Given the description of an element on the screen output the (x, y) to click on. 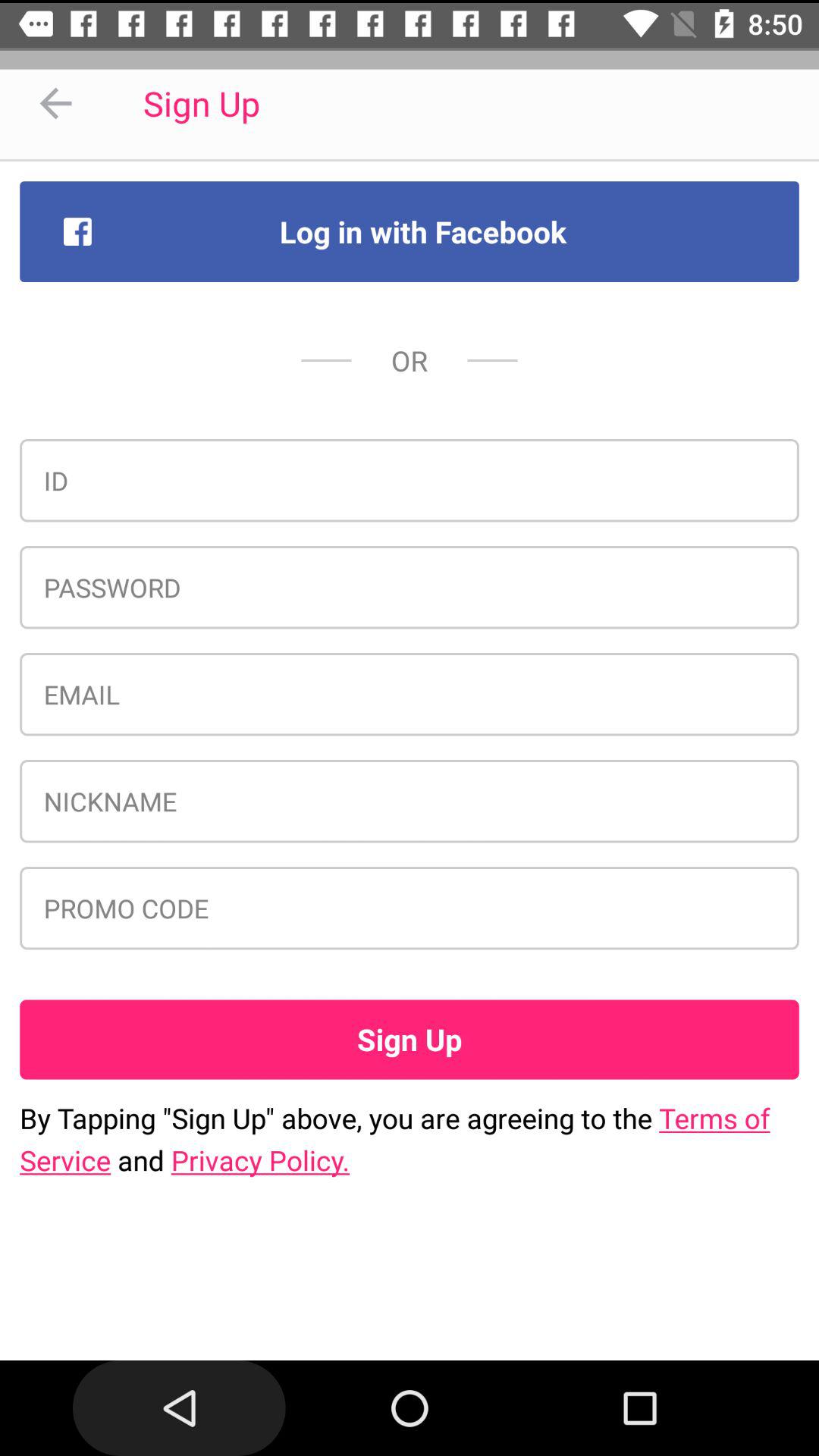
open icon below or icon (409, 480)
